Given the description of an element on the screen output the (x, y) to click on. 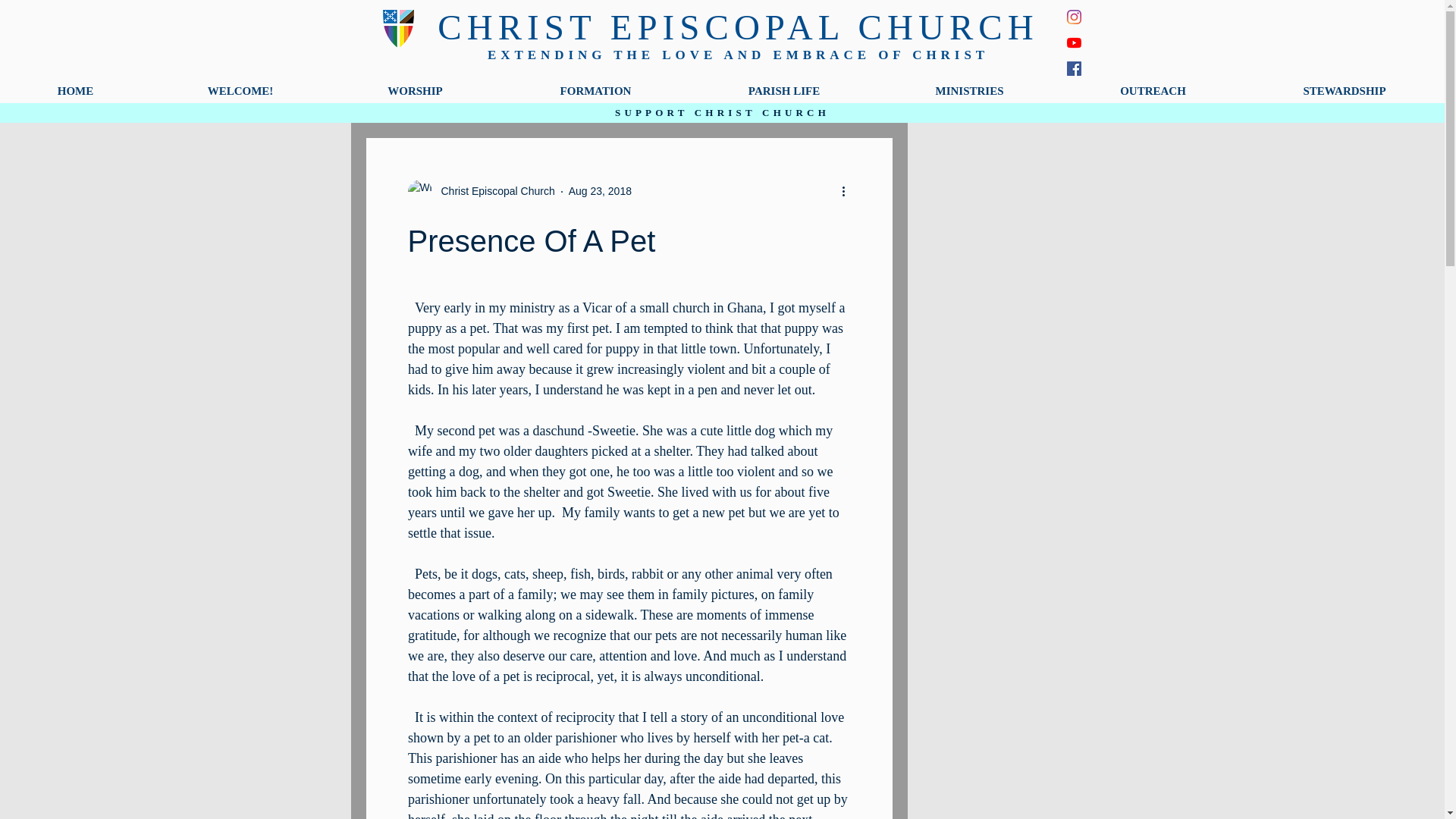
WELCOME! (240, 90)
2024 Pride shield.png (397, 28)
WORSHIP (415, 90)
HOME (75, 90)
OUTREACH (1152, 90)
Aug 23, 2018 (600, 191)
CHRIST EPISCOPAL CHURCH (738, 26)
EXTENDING THE LOVE AND EMBRACE OF CHRIST (737, 54)
MINISTRIES (969, 90)
FORMATION (595, 90)
Christ Episcopal Church (493, 191)
PARISH LIFE (783, 90)
